Given the description of an element on the screen output the (x, y) to click on. 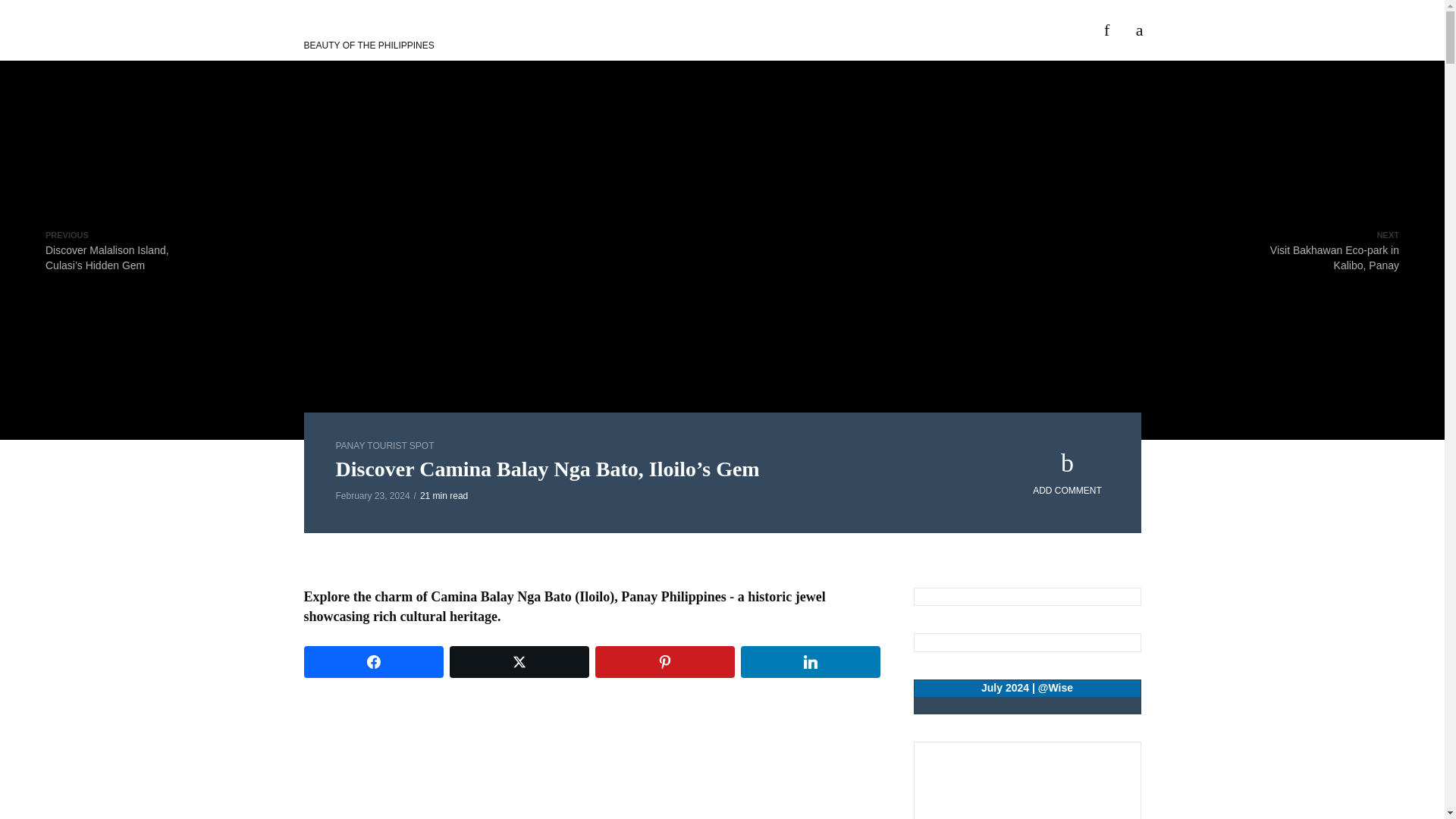
Share on LinkedIn (809, 662)
Share on Twitter (518, 662)
Share on Pinterest (663, 662)
Share on Facebook (372, 662)
